Given the description of an element on the screen output the (x, y) to click on. 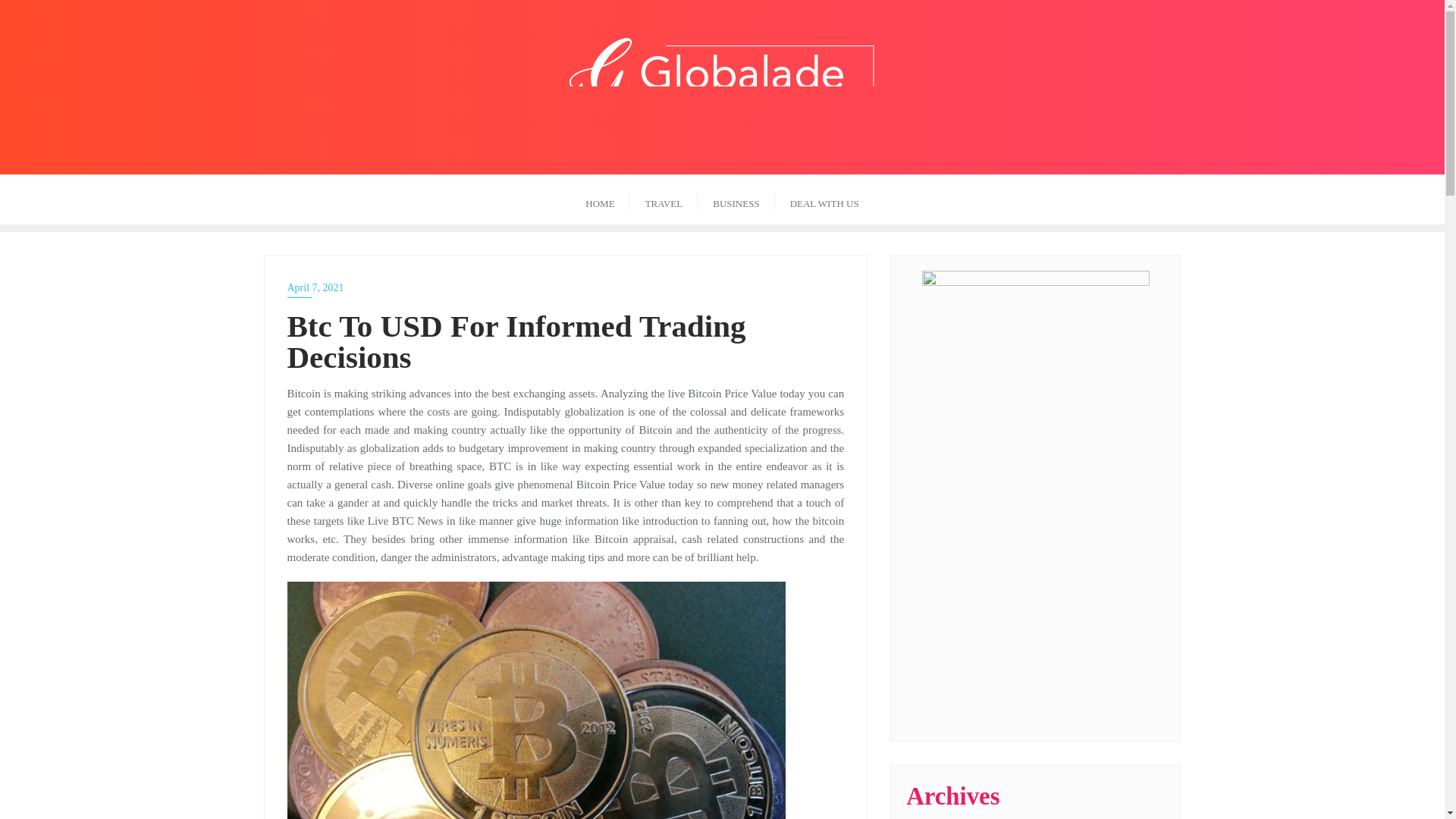
DEAL WITH US (824, 199)
HOME (599, 199)
TRAVEL (664, 199)
BUSINESS (735, 199)
April 7, 2021 (565, 287)
